Given the description of an element on the screen output the (x, y) to click on. 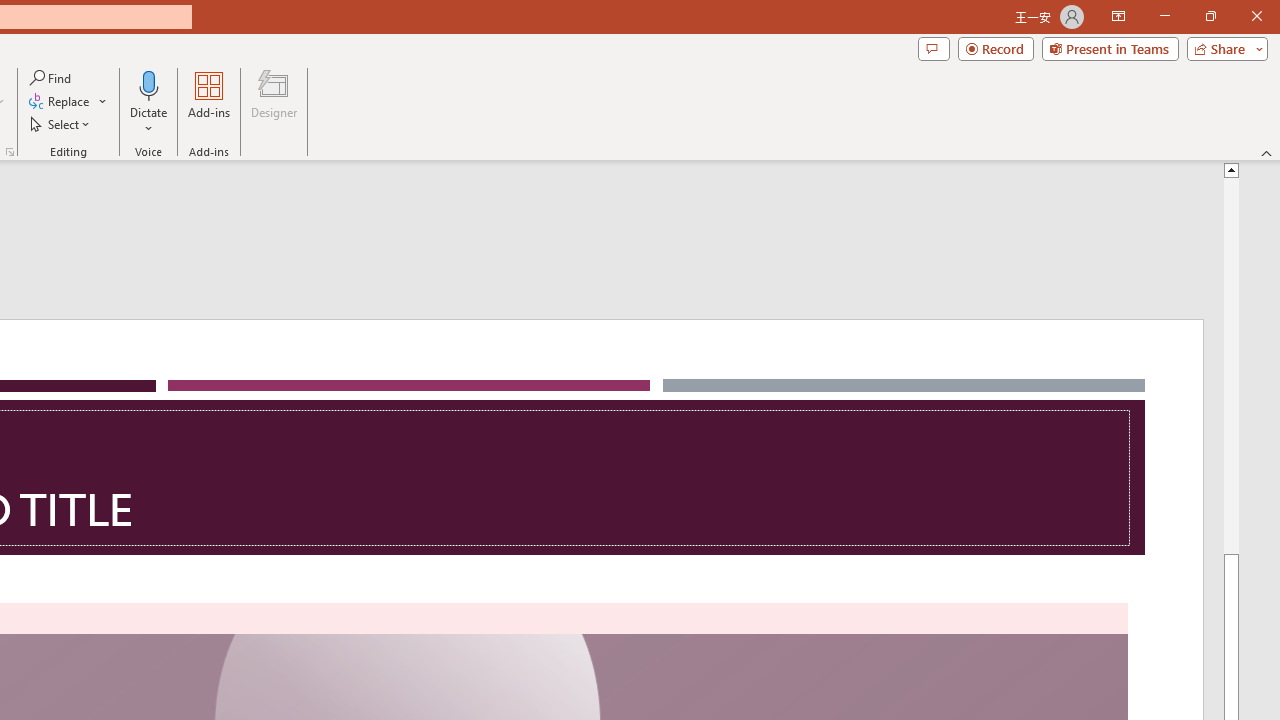
Comments (933, 48)
More Options (149, 121)
Restore Down (1210, 16)
Ribbon Display Options (1118, 16)
Replace... (68, 101)
Close (1256, 16)
Select (61, 124)
Dictate (149, 84)
Dictate (149, 102)
Share (1223, 48)
Record (995, 48)
Present in Teams (1109, 48)
Collapse the Ribbon (1267, 152)
